Given the description of an element on the screen output the (x, y) to click on. 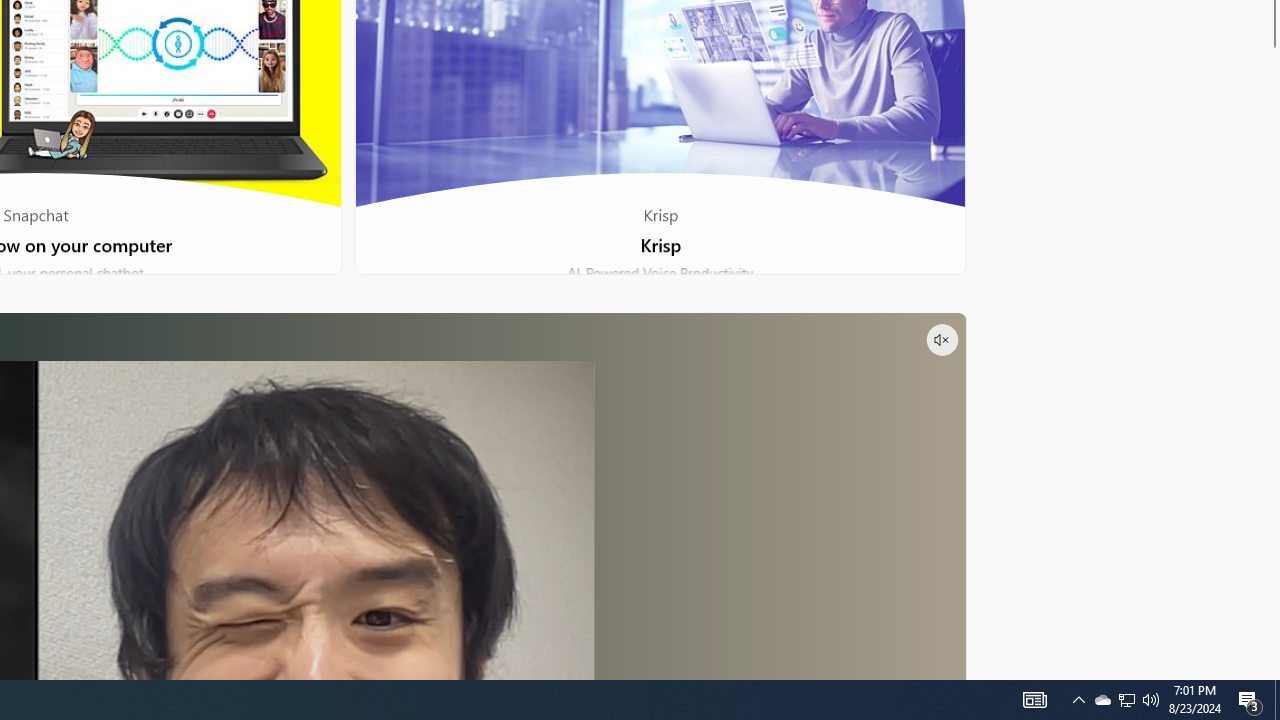
Vertical Small Increase (1272, 672)
Vertical Large Increase (1272, 358)
Unmute (941, 339)
